Given the description of an element on the screen output the (x, y) to click on. 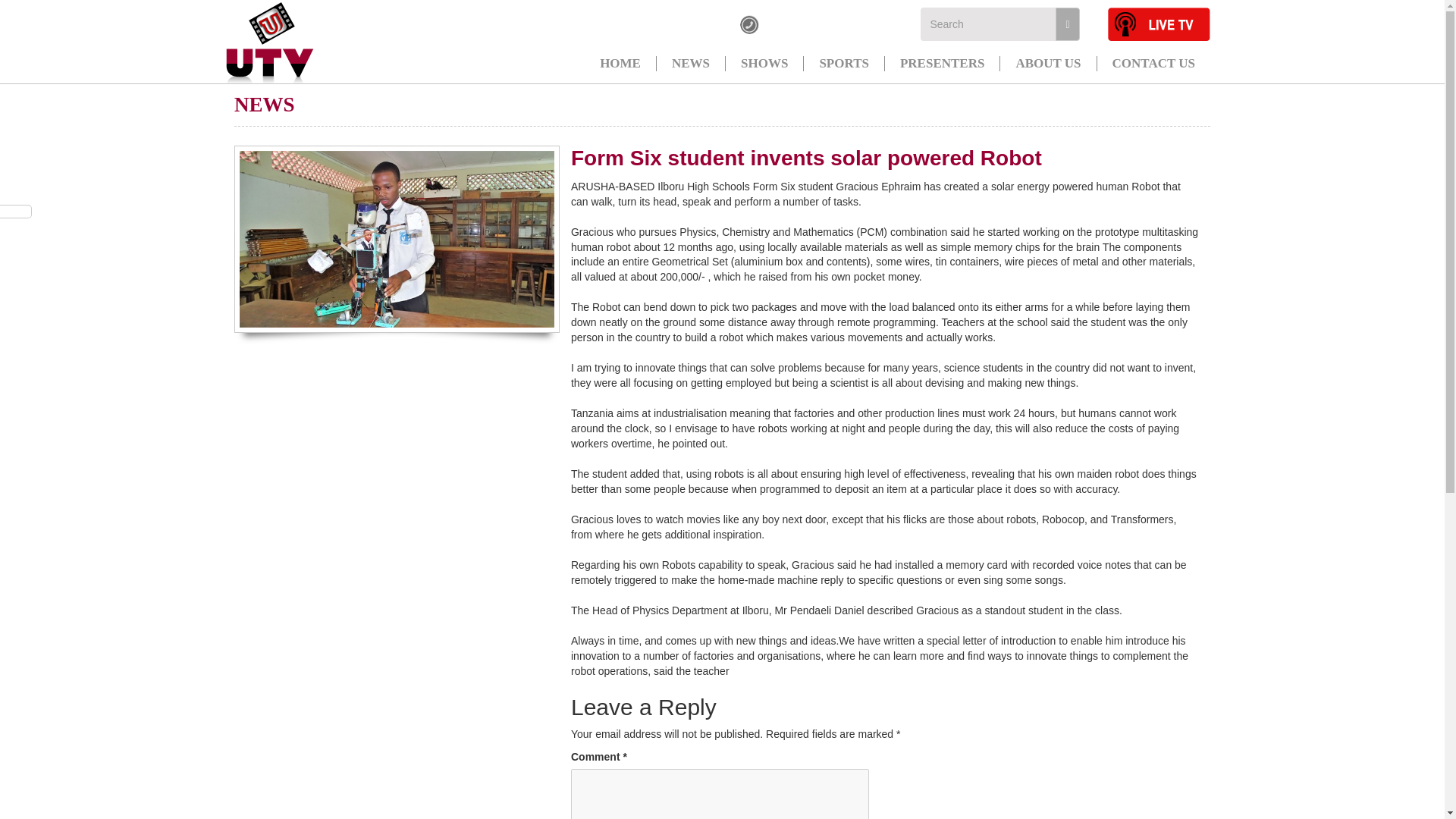
SPORTS (843, 63)
SHOWS (764, 63)
PRESENTERS (941, 63)
HOME (620, 63)
NEWS (690, 63)
ABOUT US (1048, 63)
CONTACT US (1153, 63)
